Given the description of an element on the screen output the (x, y) to click on. 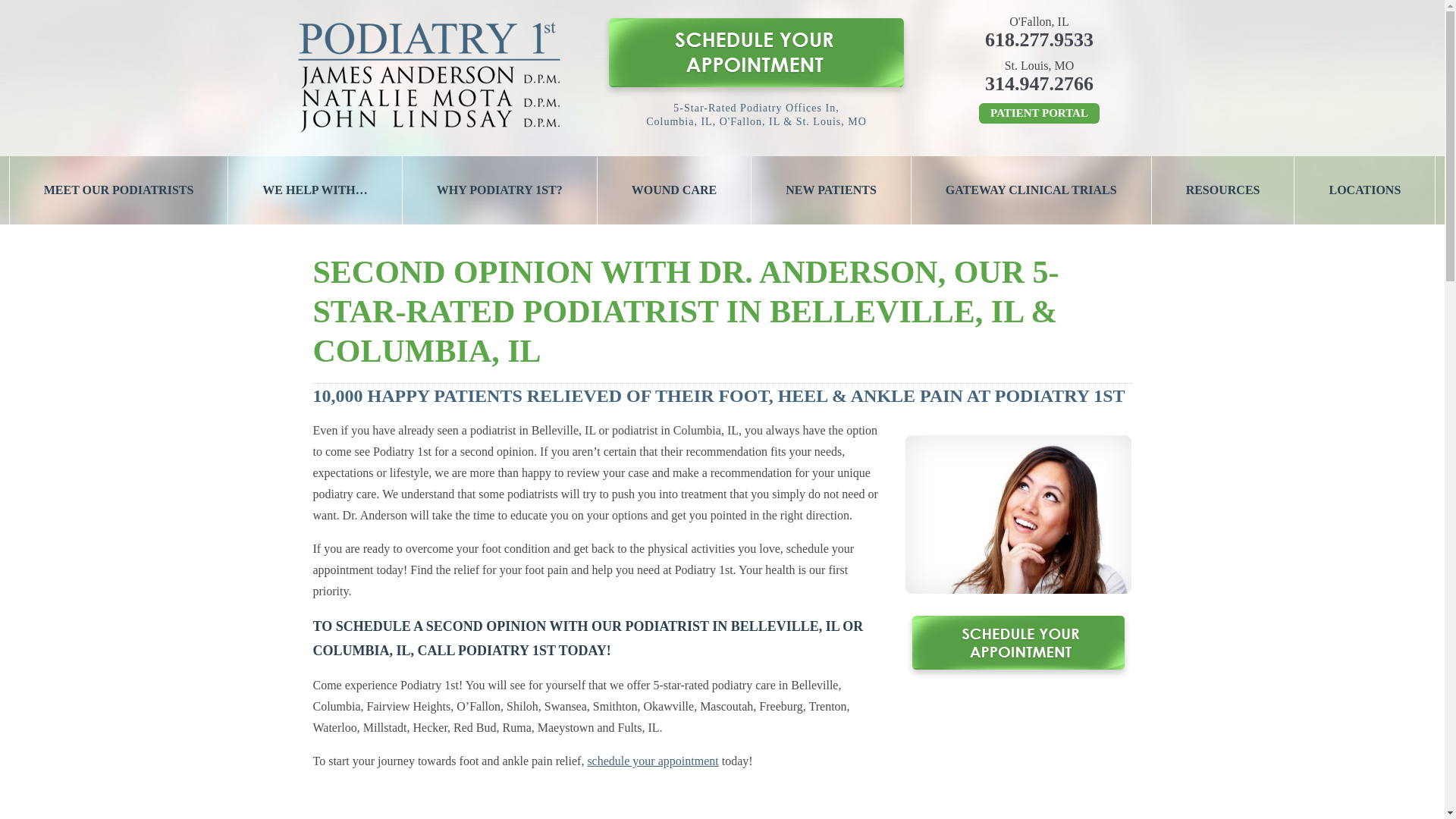
Podiatry 1st (428, 133)
WHY PODIATRY 1ST? (499, 190)
MEET OUR PODIATRISTS (118, 190)
PATIENT PORTAL (1038, 113)
314.947.2766 (1039, 83)
618.277.9533 (1039, 39)
WOUND CARE (673, 190)
